Given the description of an element on the screen output the (x, y) to click on. 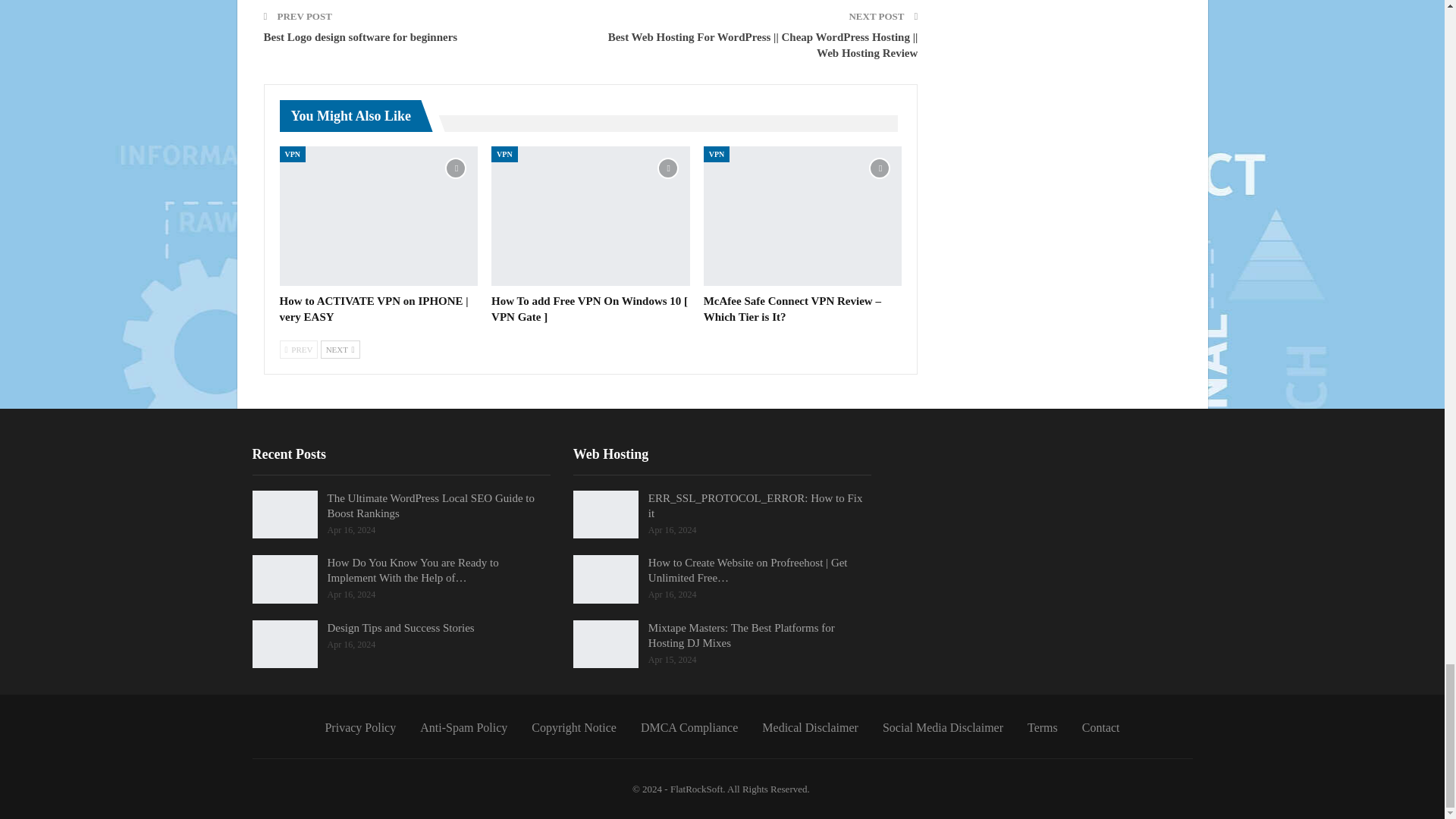
VPN (292, 154)
Previous (298, 349)
Next (339, 349)
Best Logo design software for beginners (360, 37)
